Given the description of an element on the screen output the (x, y) to click on. 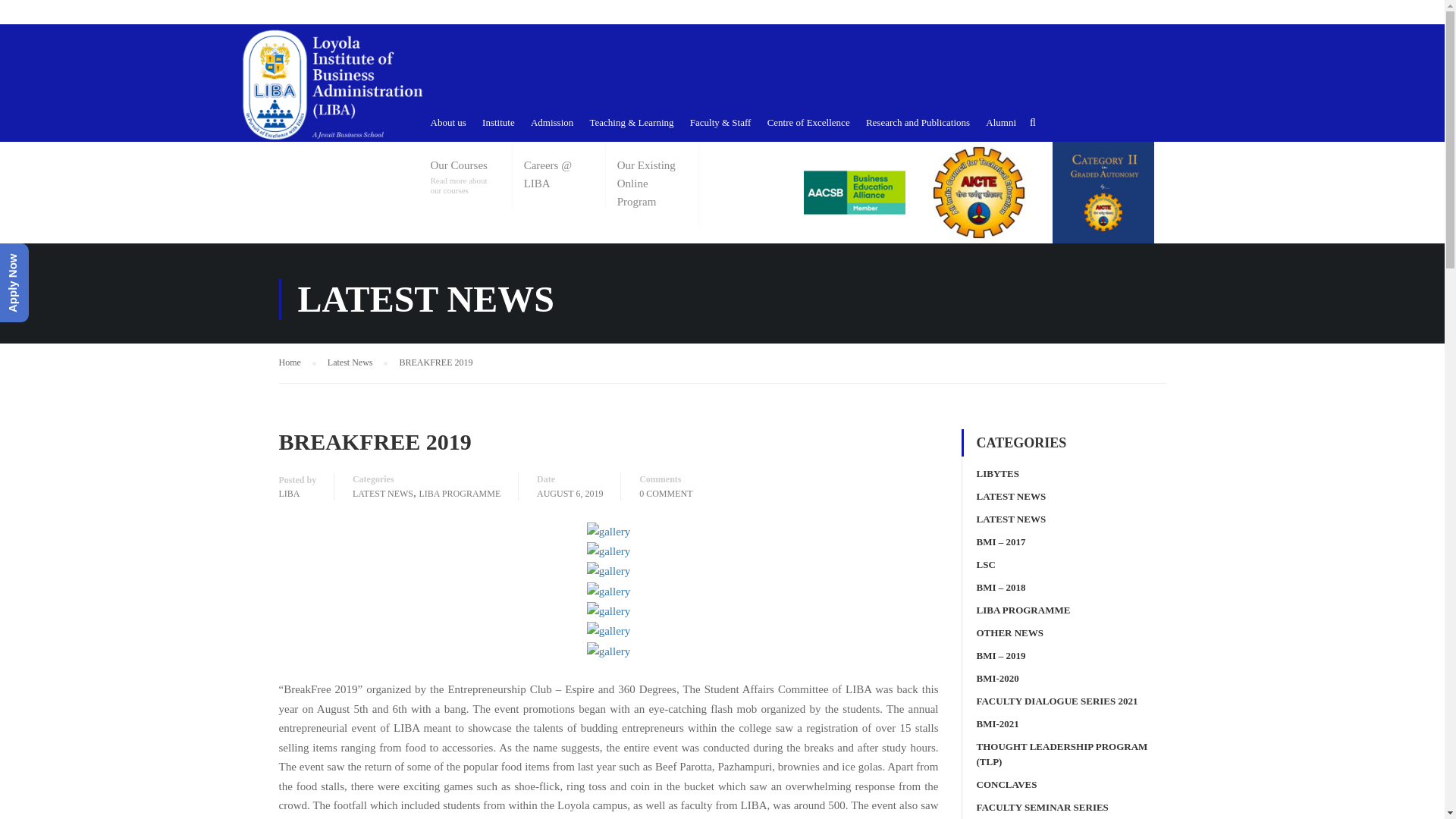
LIBA - In Pursuit of Excellence with Ethics (332, 84)
Home (297, 362)
Latest News (357, 362)
BREAKFREE 2019 (434, 362)
Institute (498, 122)
About us (447, 122)
